Given the description of an element on the screen output the (x, y) to click on. 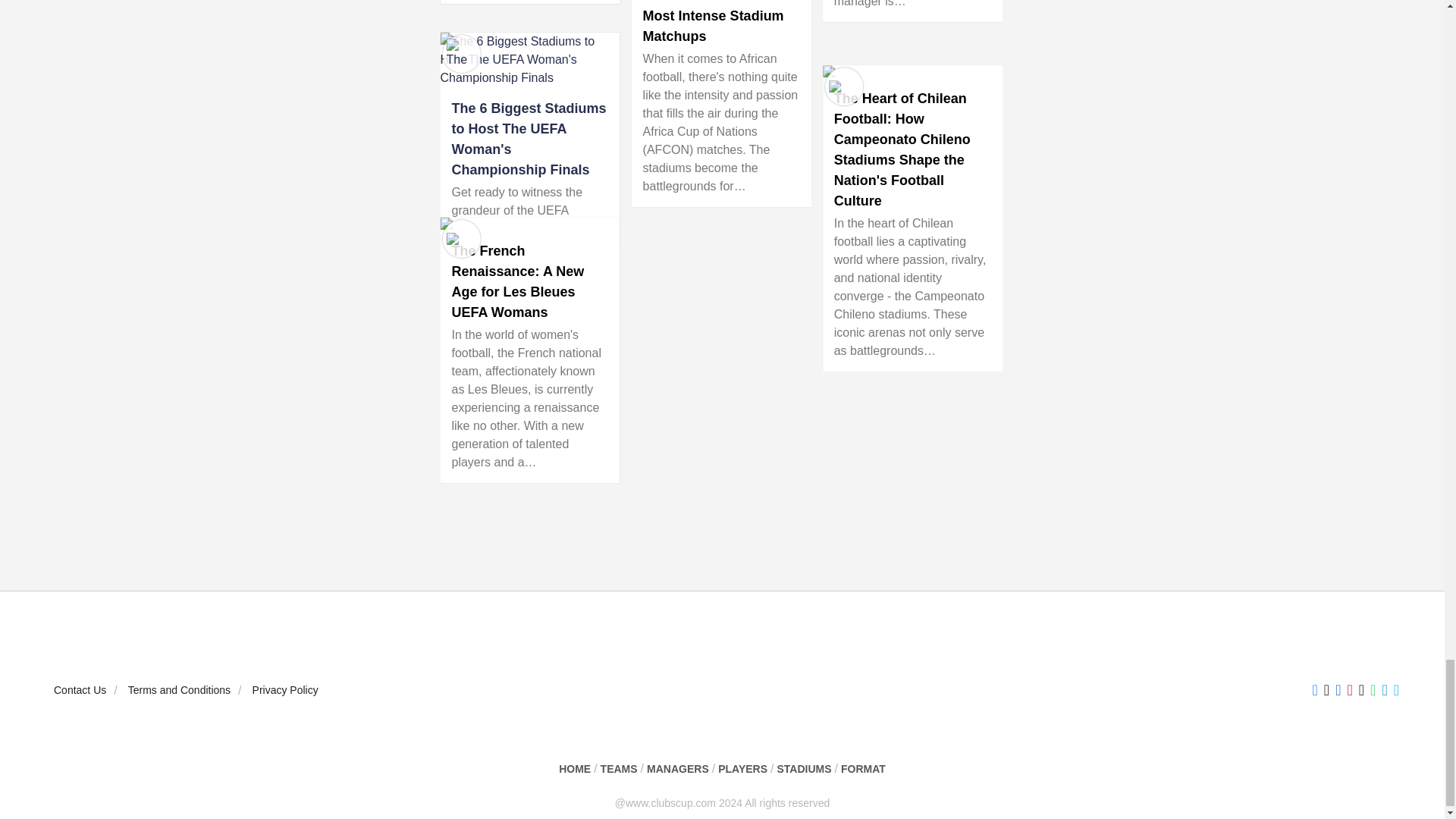
Privacy Policy (284, 689)
Terms and Conditions (178, 689)
STADIUMS (803, 769)
MANAGERS (677, 769)
Contact Us (79, 689)
PLAYERS (742, 769)
